Given the description of an element on the screen output the (x, y) to click on. 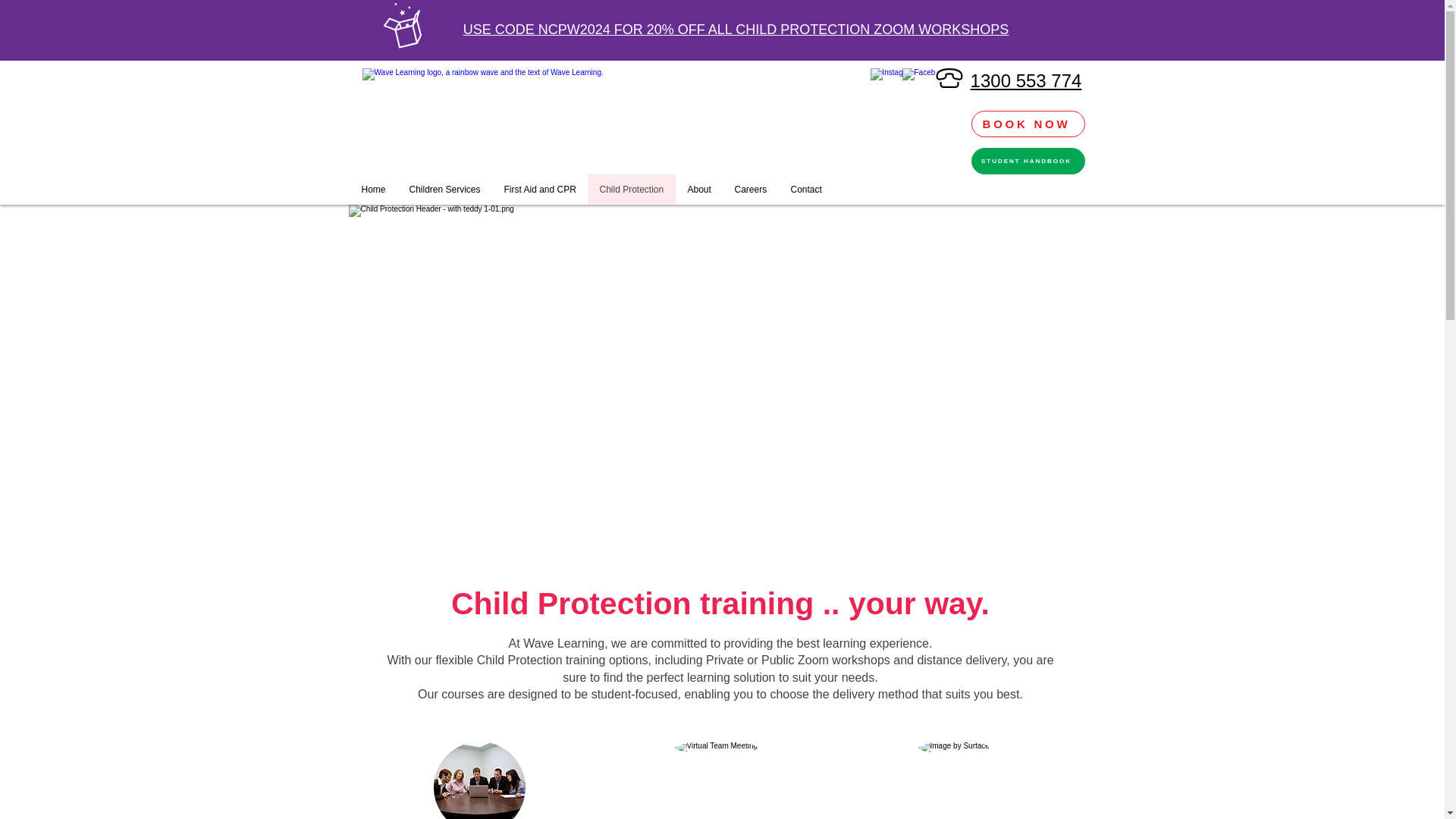
Child Protection (630, 189)
Contact (804, 189)
1300 553 774 (1026, 80)
Careers (749, 189)
About (698, 189)
First Aid and CPR (539, 189)
Children Services (444, 189)
BOOK NOW (1027, 123)
STUDENT HANDBOOK (1027, 161)
Home (373, 189)
